Given the description of an element on the screen output the (x, y) to click on. 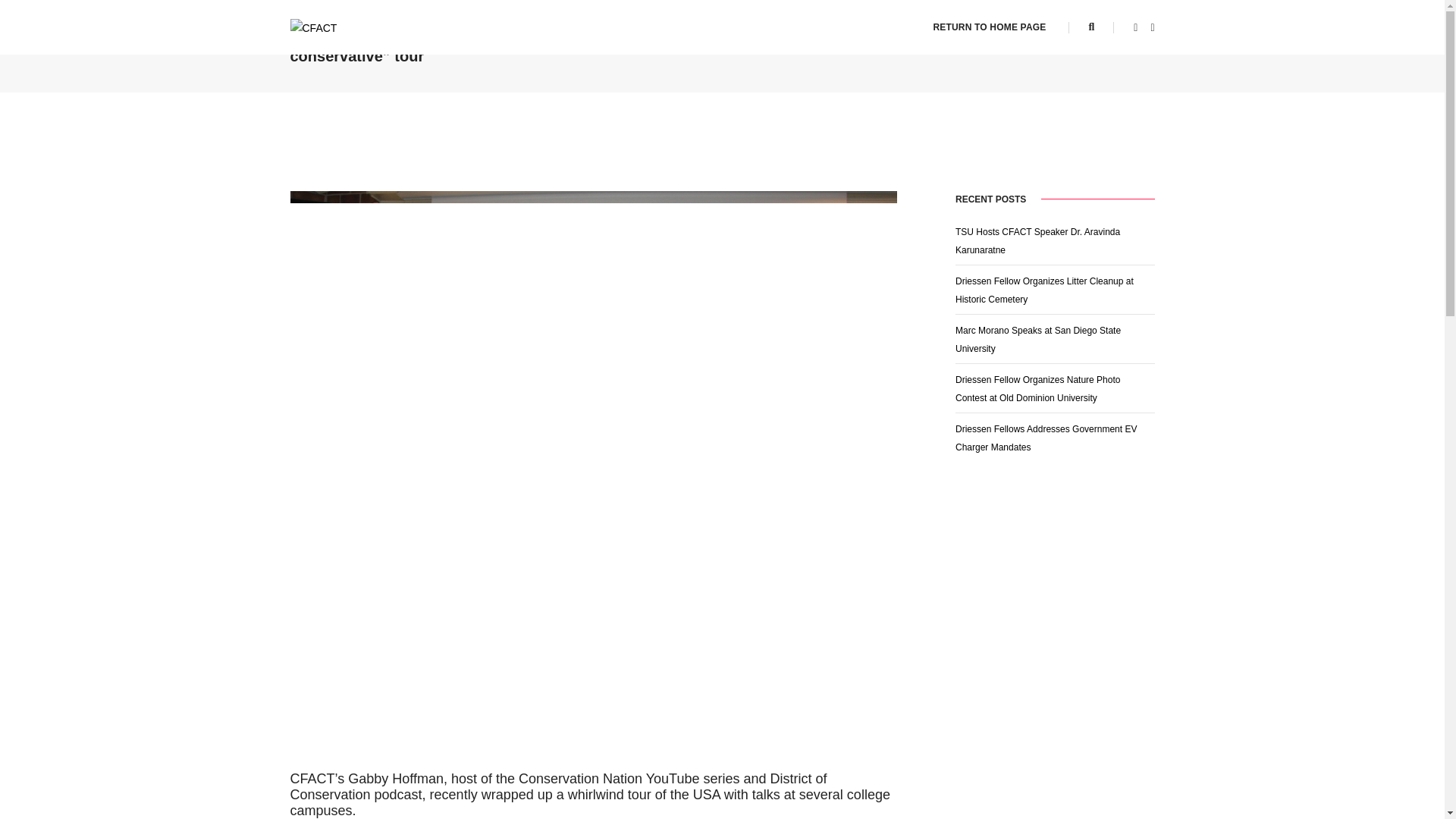
SLIDER (1137, 37)
CFACT (312, 26)
TSU Hosts CFACT Speaker Dr. Aravinda Karunaratne (1037, 240)
Marc Morano Speaks at San Diego State University (1038, 339)
ADAM HOUSER (1029, 37)
Driessen Fellows Addresses Government EV Charger Mandates (1046, 438)
NEWS (1102, 37)
RETURN TO HOME PAGE (989, 27)
